Given the description of an element on the screen output the (x, y) to click on. 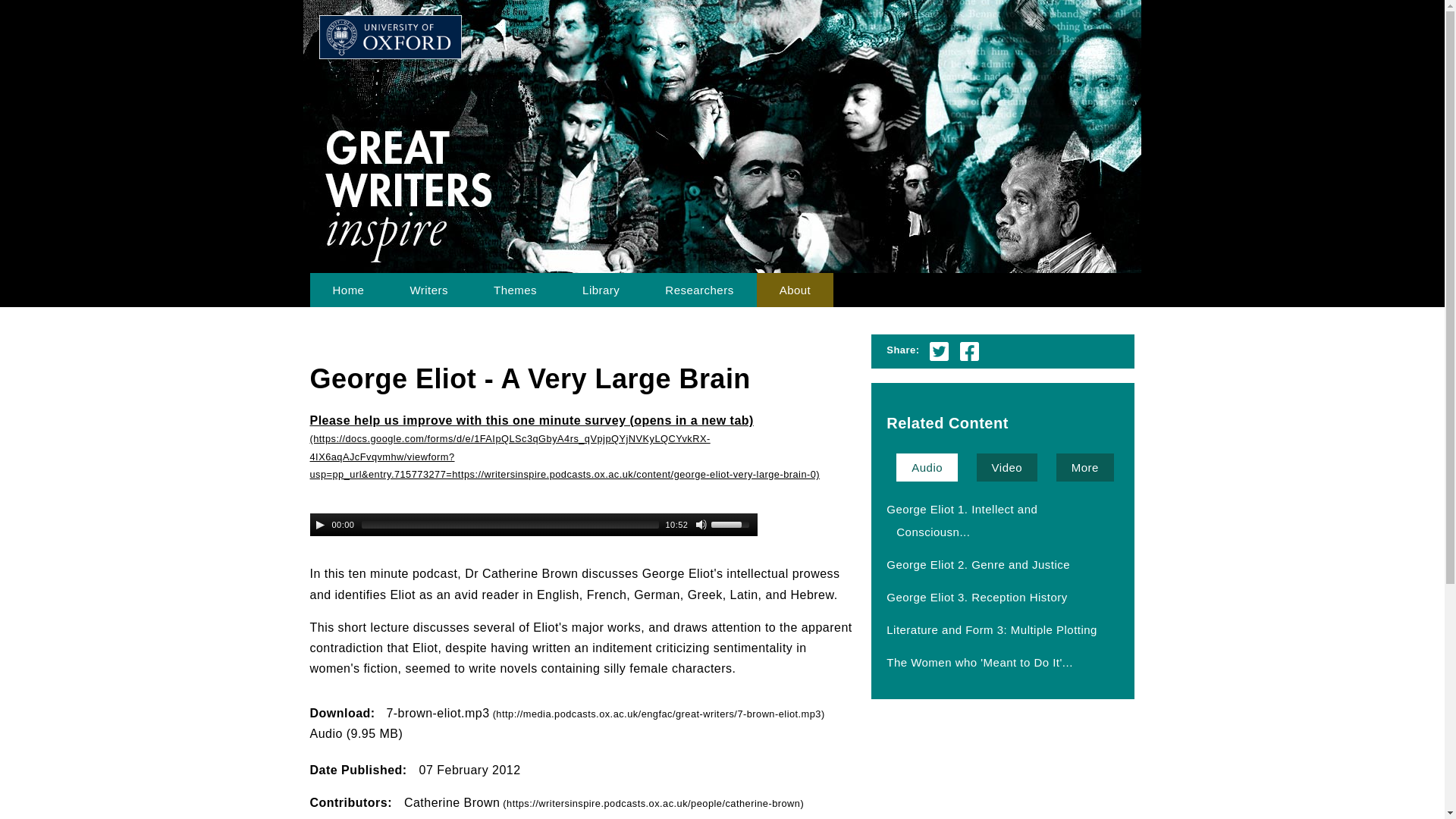
A presentation of the project. (795, 289)
About (795, 289)
Mute Toggle (701, 524)
Library of all media files (600, 289)
Researchers (698, 289)
Themes of the Great Writers (514, 289)
The Great Writers (428, 289)
7-brown-eliot.mp3 (604, 712)
Themes (514, 289)
Video (1007, 467)
Great Writers Inspire (520, 49)
Great Writers Inspire Homepage (347, 289)
George Eliot 1. Intellect and Consciousness (958, 519)
George Eliot 2. Genre and Justice (977, 564)
